Given the description of an element on the screen output the (x, y) to click on. 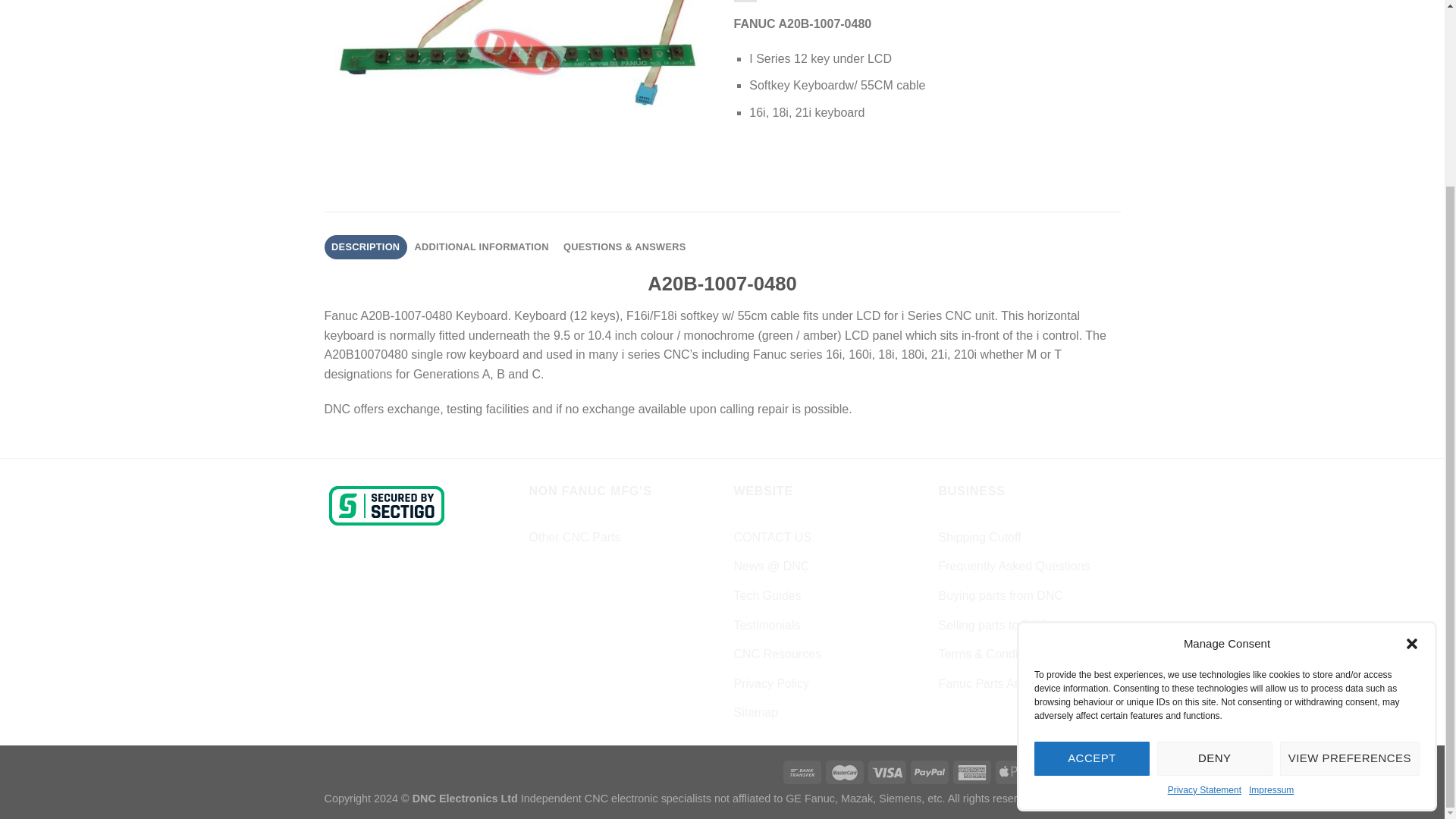
Privacy Statement (1204, 559)
DENY (1214, 527)
Impressum (1271, 559)
VIEW PREFERENCES (1349, 527)
ACCEPT (1091, 527)
